Given the description of an element on the screen output the (x, y) to click on. 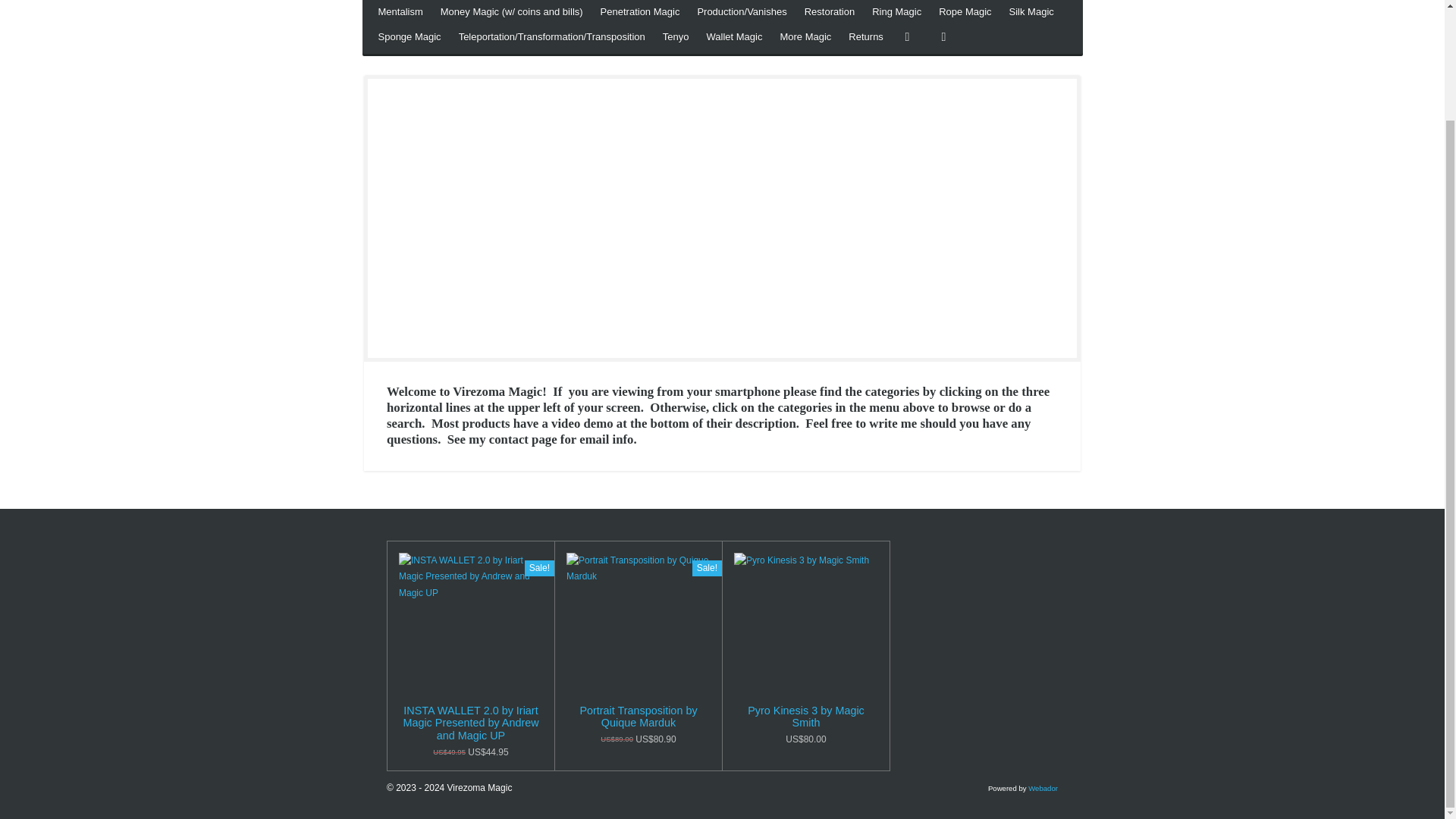
Returns (866, 37)
Mentalism (399, 12)
Wallet Magic (734, 37)
Sponge Magic (408, 37)
Penetration Magic (639, 12)
Ring Magic (896, 12)
Restoration (828, 12)
Rope Magic (964, 12)
Silk Magic (1031, 12)
More Magic (804, 37)
